Given the description of an element on the screen output the (x, y) to click on. 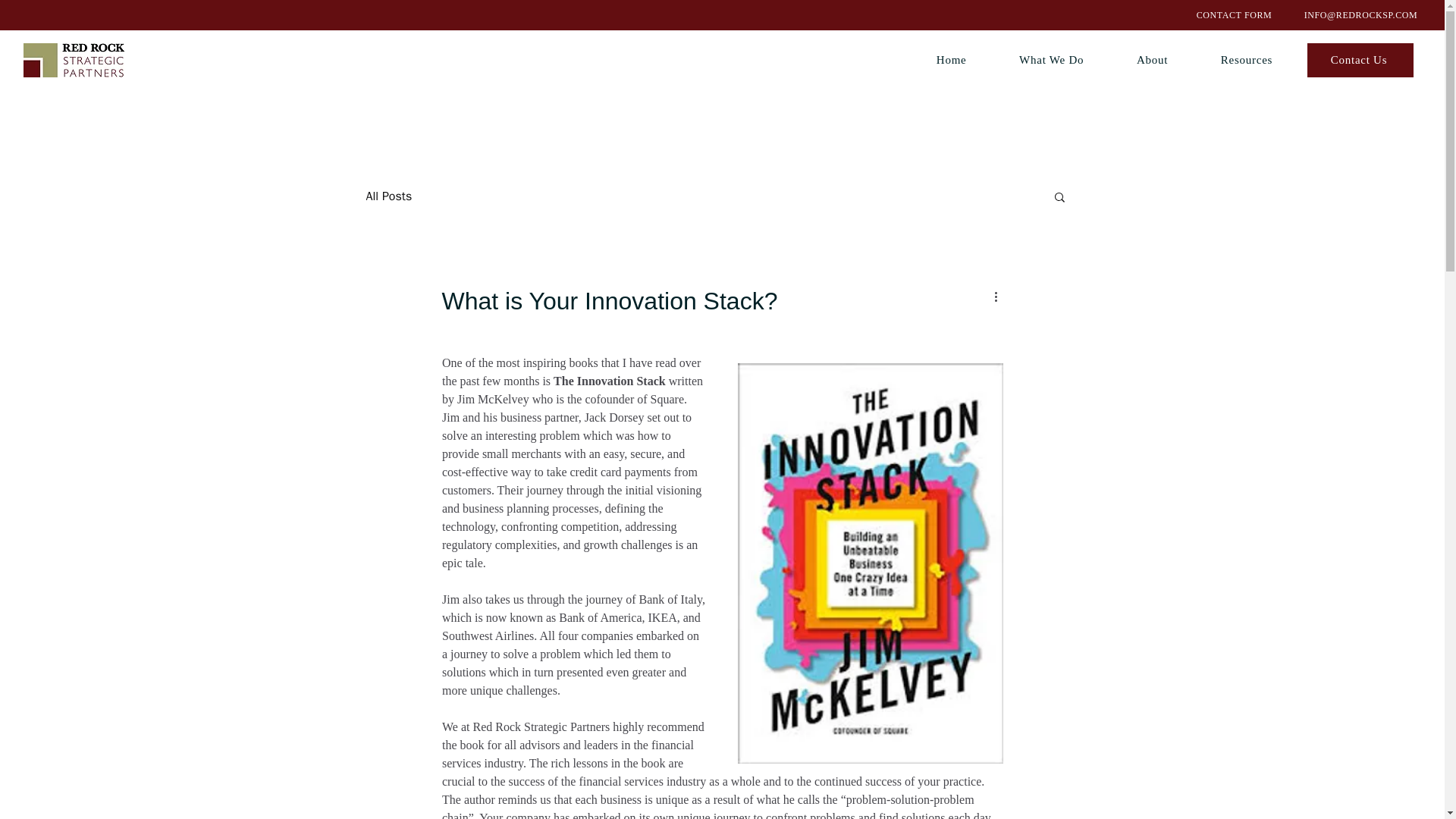
CONTACT FORM (1233, 15)
Home (951, 59)
Contact Us (1360, 59)
All Posts (388, 195)
